Given the description of an element on the screen output the (x, y) to click on. 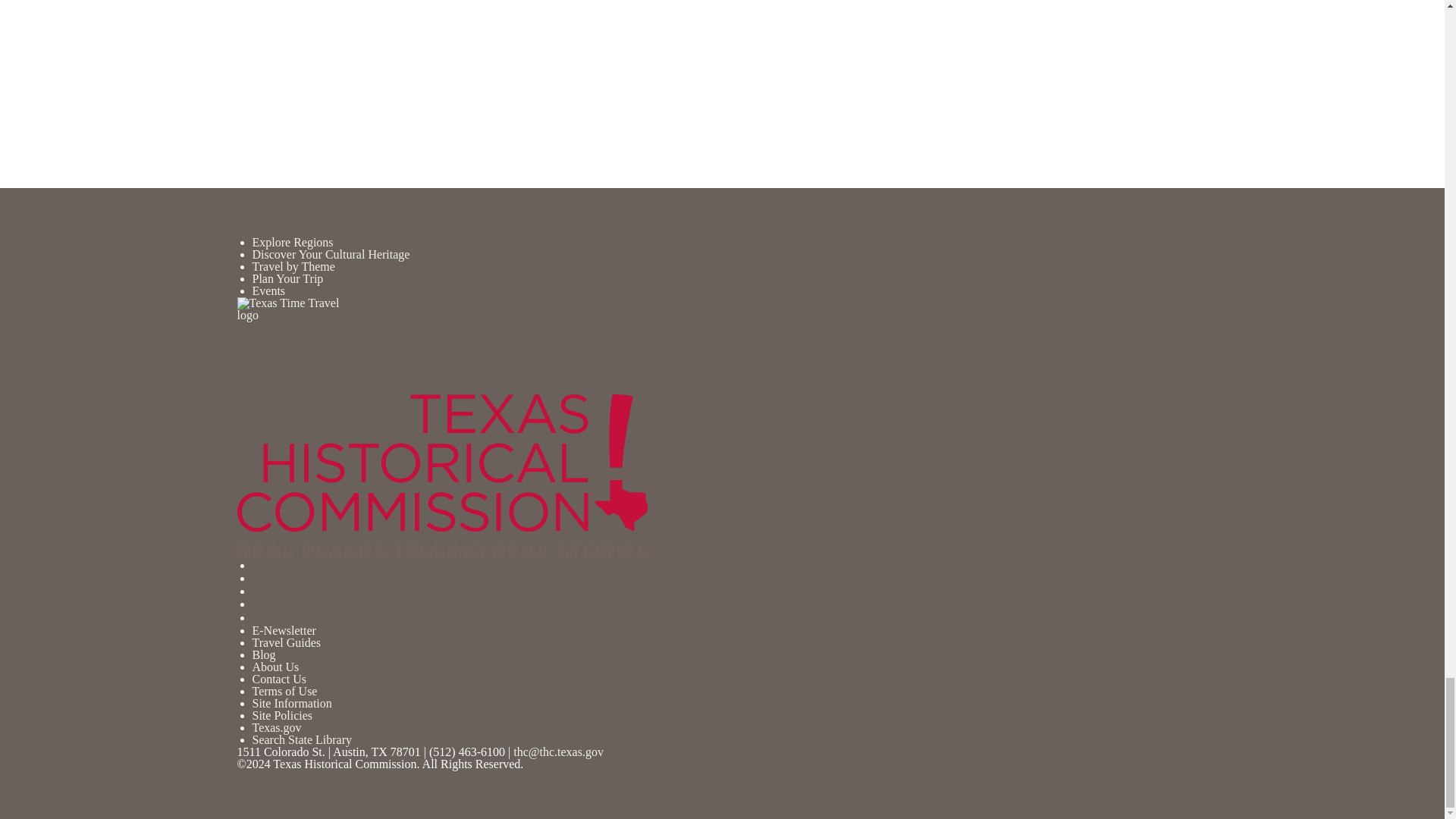
Explore Regions (292, 241)
Travel by Theme (292, 266)
Discover Your Cultural Heritage (330, 254)
